Given the description of an element on the screen output the (x, y) to click on. 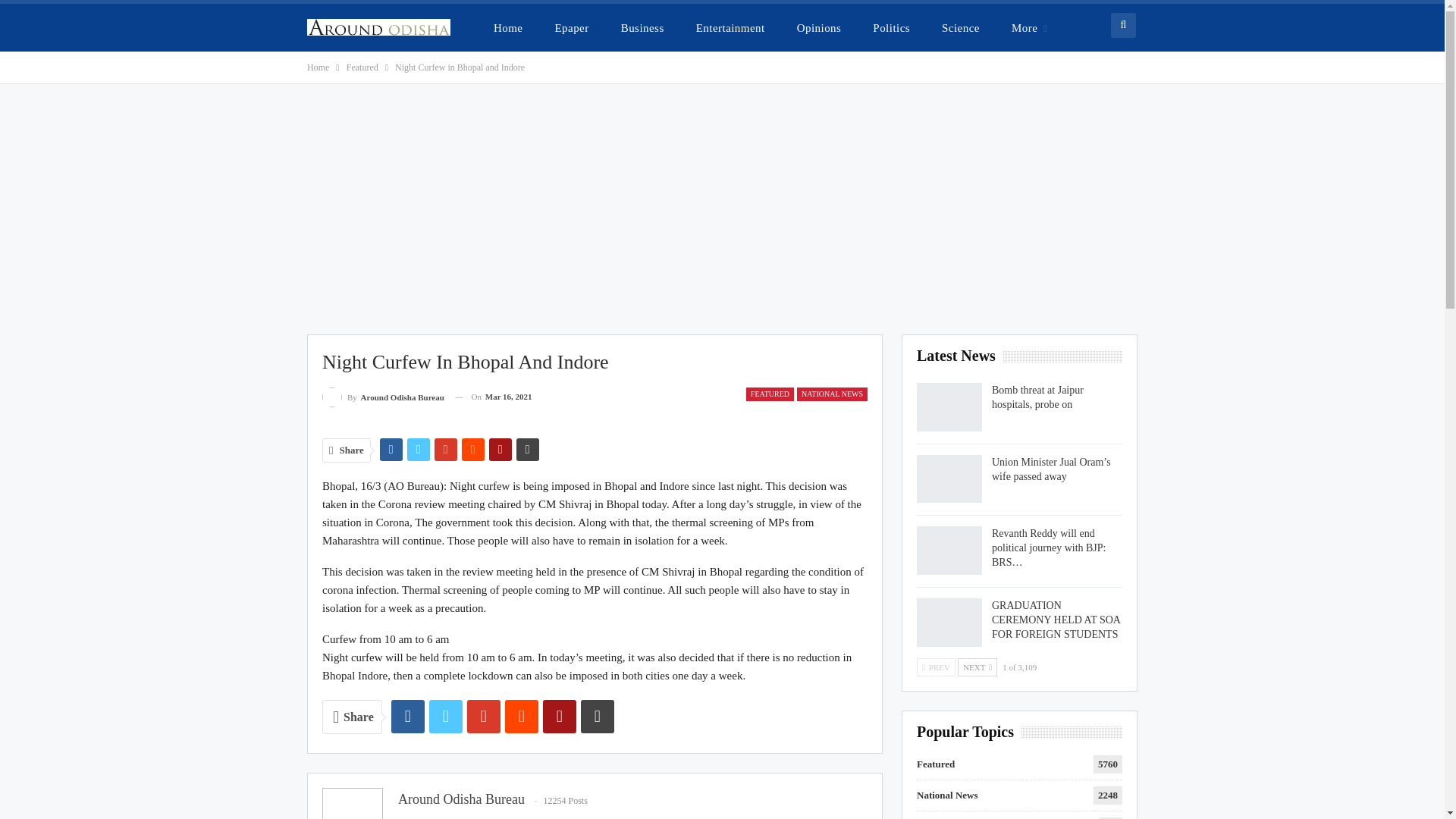
Bomb threat at Jaipur hospitals, probe on (949, 407)
FEATURED (769, 394)
Politics (890, 27)
Around Odisha Bureau (460, 798)
Science (960, 27)
Business (642, 27)
Opinions (818, 27)
By Around Odisha Bureau (382, 396)
Browse Author Articles (382, 396)
